Given the description of an element on the screen output the (x, y) to click on. 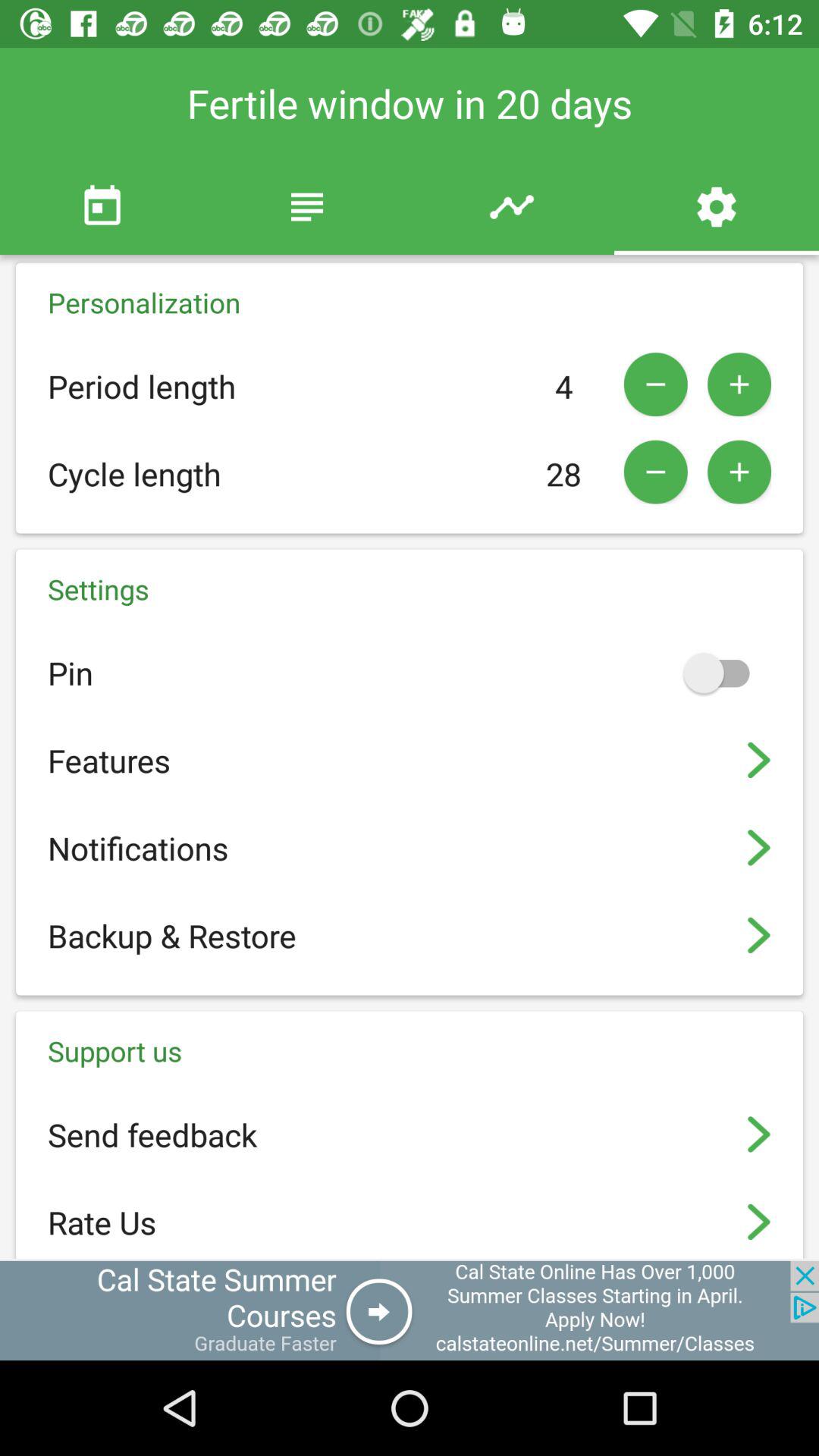
on and off option (723, 672)
